Given the description of an element on the screen output the (x, y) to click on. 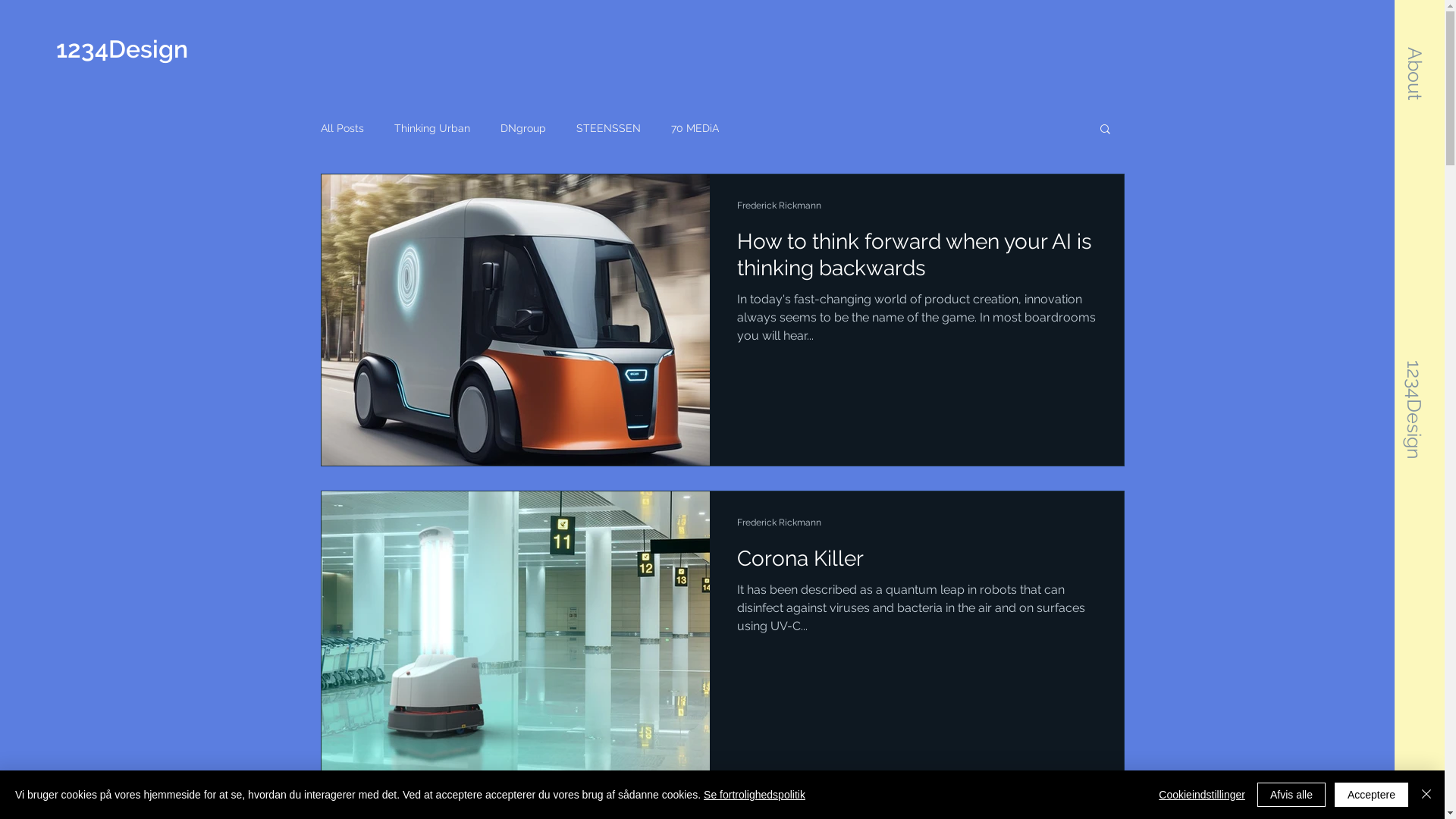
STEENSSEN Element type: text (608, 128)
DNgroup Element type: text (523, 128)
Afvis alle Element type: text (1291, 794)
Corona Killer Element type: text (916, 562)
Acceptere Element type: text (1371, 794)
Se fortrolighedspolitik Element type: text (754, 794)
How to think forward when your AI is thinking backwards Element type: text (916, 258)
Thinking Urban Element type: text (432, 128)
1234Design Element type: text (144, 49)
70 MEDiA Element type: text (694, 128)
All Posts Element type: text (341, 128)
